Given the description of an element on the screen output the (x, y) to click on. 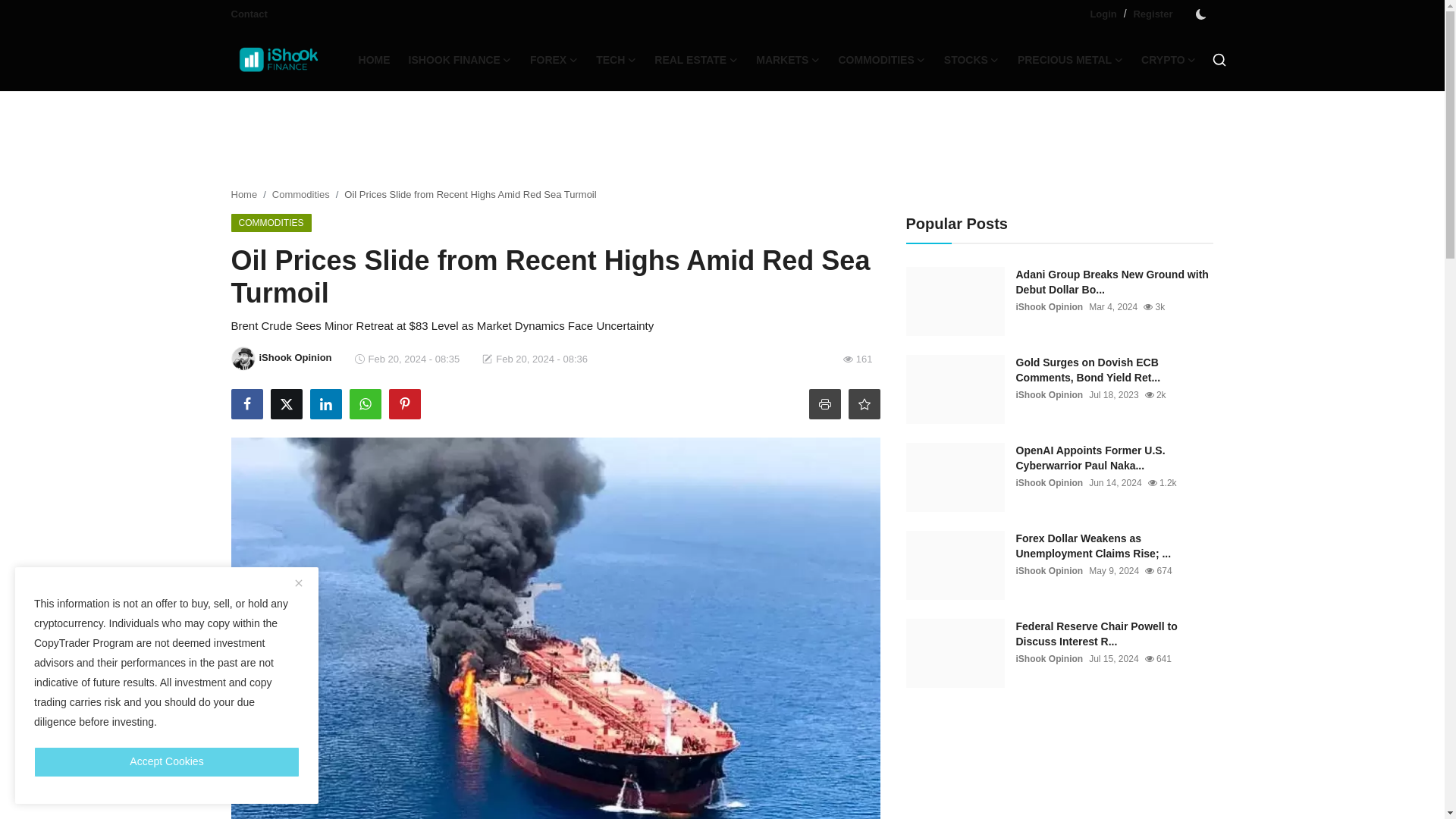
COMMODITIES (881, 59)
FOREX (553, 59)
dark (1200, 14)
CRYPTO (1168, 59)
PRECIOUS METAL (1070, 59)
ISHOOK FINANCE (459, 59)
STOCKS (971, 59)
TECH (615, 59)
MARKETS (787, 59)
Register (1152, 14)
